Given the description of an element on the screen output the (x, y) to click on. 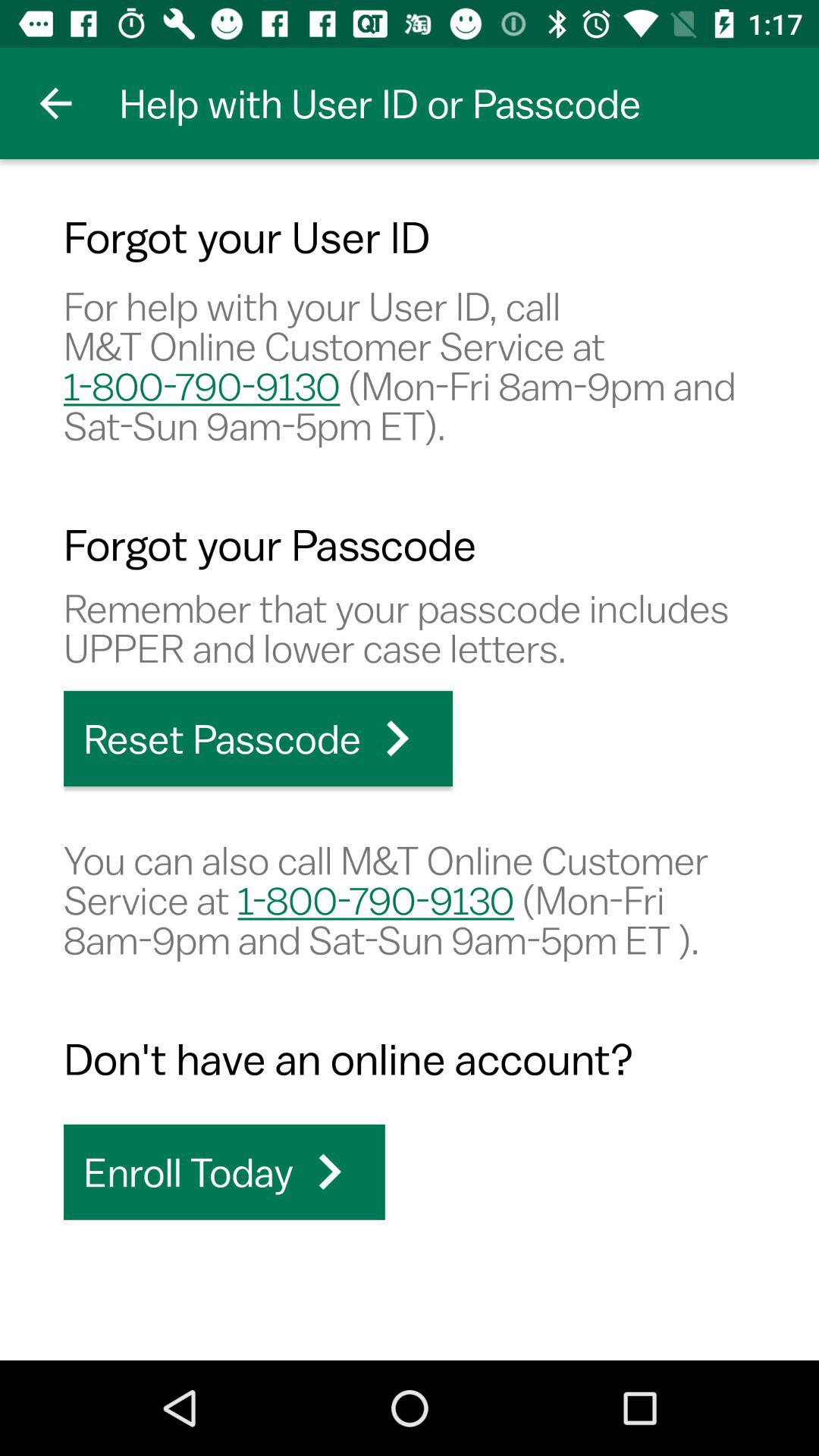
select app to the left of help with user item (55, 103)
